Given the description of an element on the screen output the (x, y) to click on. 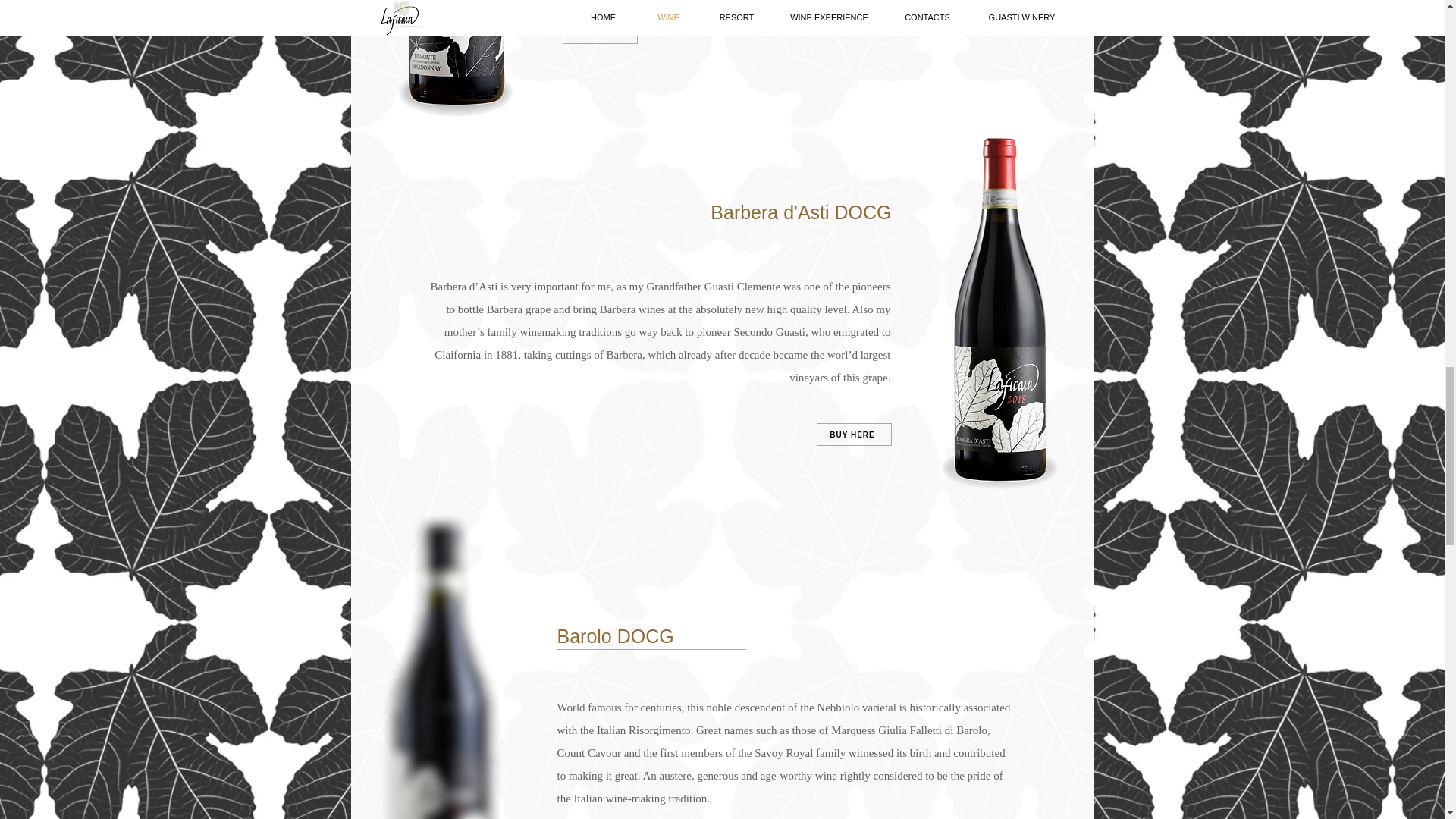
BUY HERE (599, 32)
BUY HERE (853, 434)
